Given the description of an element on the screen output the (x, y) to click on. 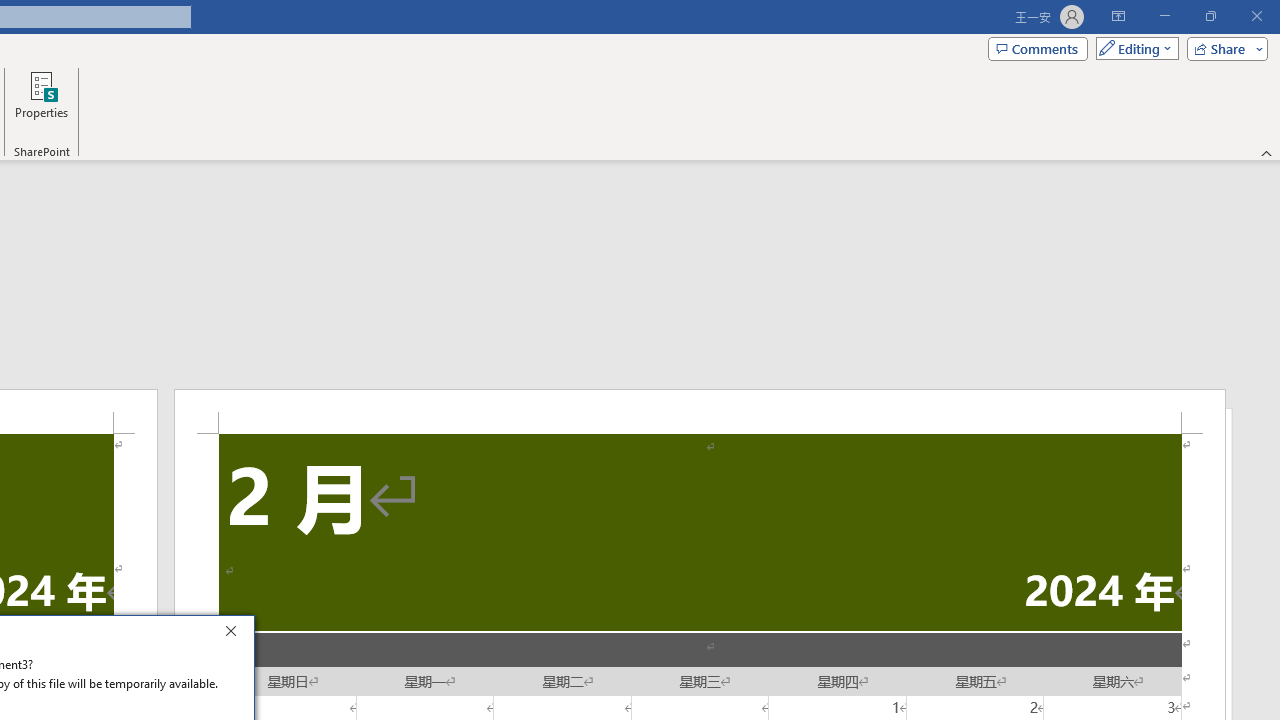
Properties (41, 102)
Header -Section 2- (700, 411)
